Given the description of an element on the screen output the (x, y) to click on. 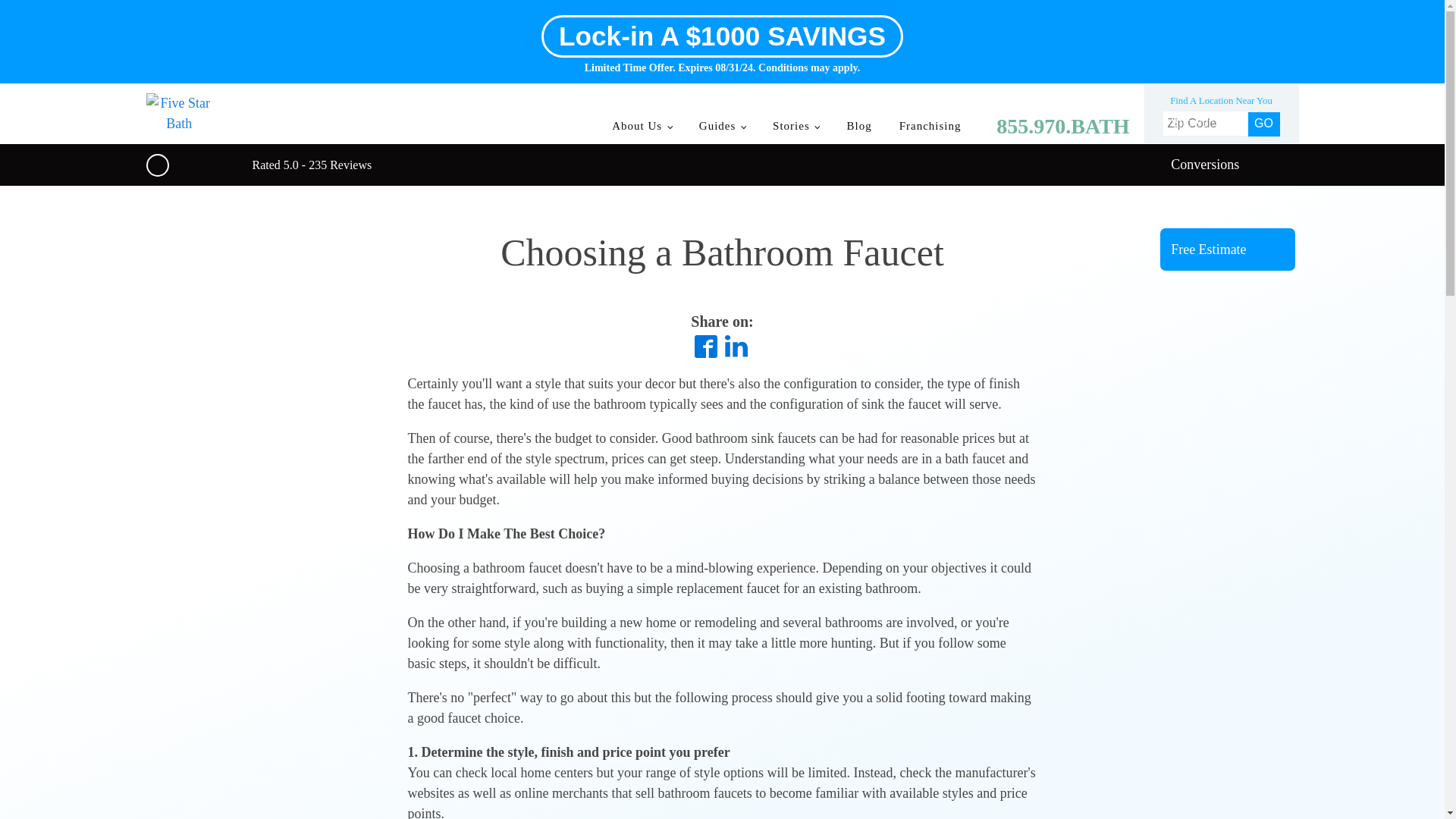
Stories (795, 126)
Find A Location Near You (1221, 100)
Shower (1227, 122)
Safety Bath (1227, 206)
Conversions (1227, 165)
855.970.BATH (1053, 125)
GO (1263, 124)
About Us (641, 126)
Franchising (930, 126)
Bath (1227, 79)
